Given the description of an element on the screen output the (x, y) to click on. 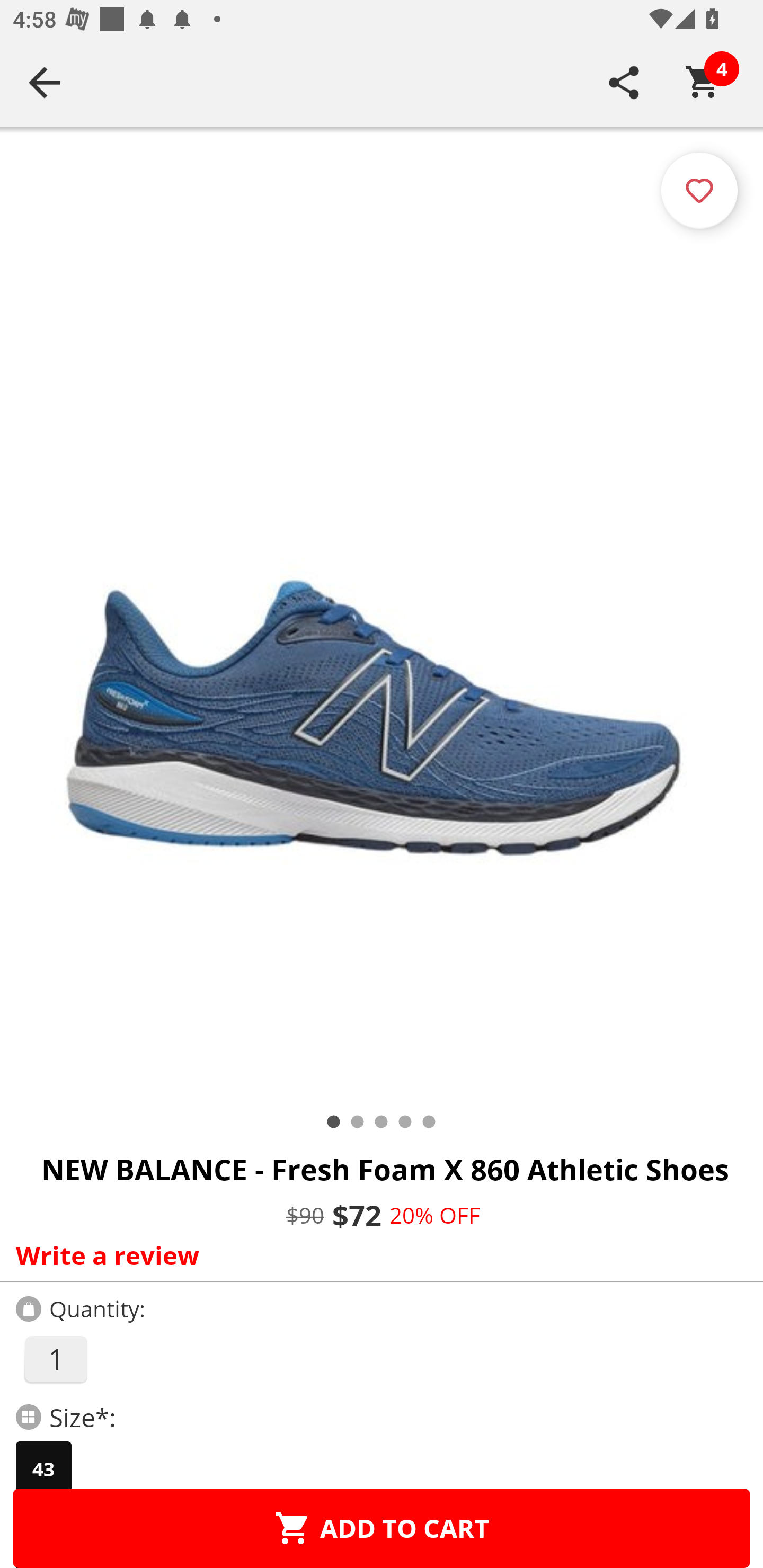
Navigate up (44, 82)
SHARE (623, 82)
Cart (703, 81)
Write a review (377, 1255)
1 (55, 1358)
43 (43, 1468)
ADD TO CART (381, 1528)
